Given the description of an element on the screen output the (x, y) to click on. 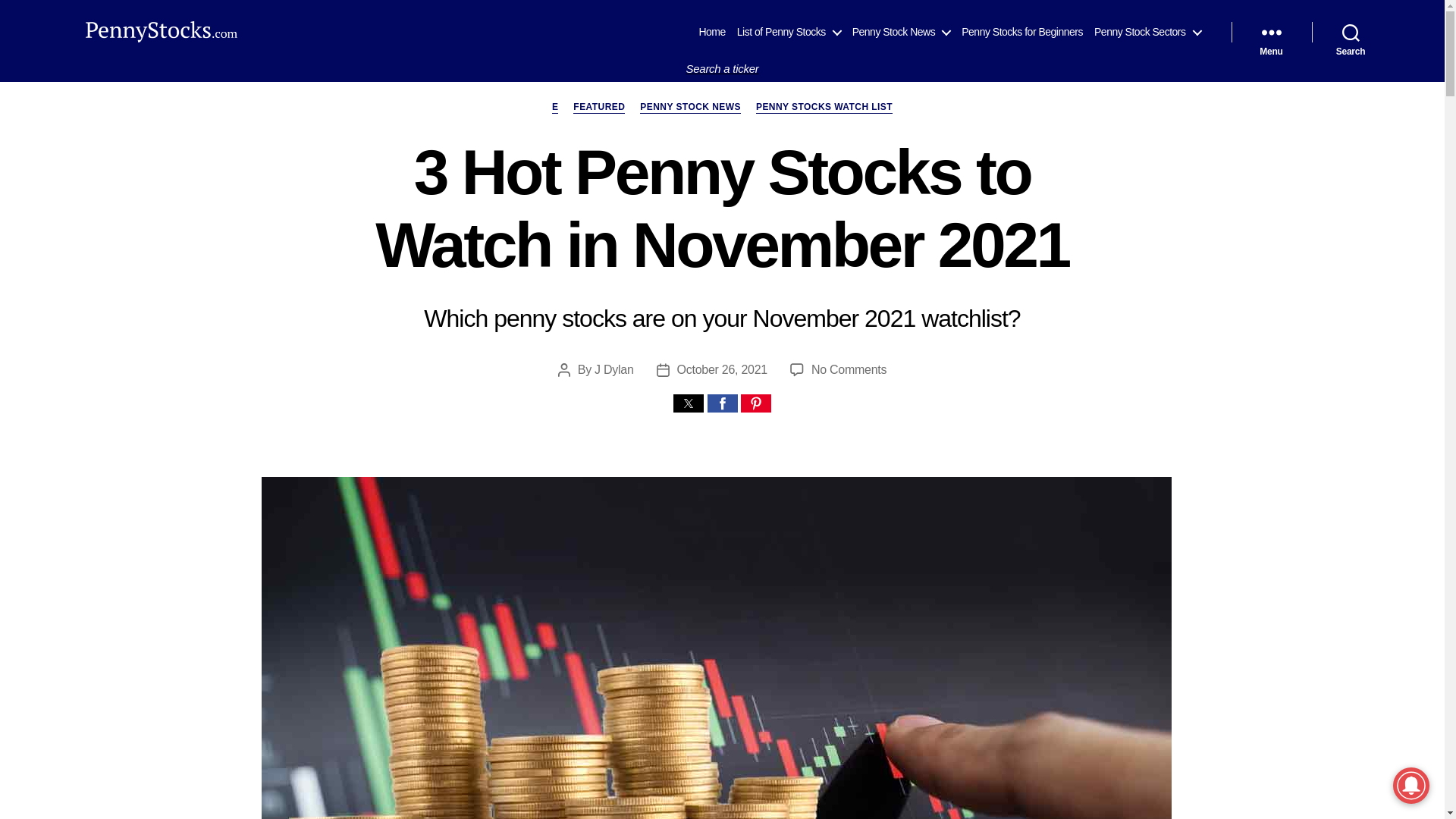
PENNY STOCKS WATCH LIST (823, 107)
PENNY STOCK NEWS (690, 107)
Search (1350, 31)
Penny Stocks for Beginners (1021, 31)
Penny Stock Sectors (1146, 31)
Menu (1271, 31)
J Dylan (613, 369)
October 26, 2021 (722, 369)
List of Penny Stocks (788, 31)
Home (711, 31)
Search a ticker (721, 68)
Penny Stock News (900, 31)
FEATURED (848, 369)
